Given the description of an element on the screen output the (x, y) to click on. 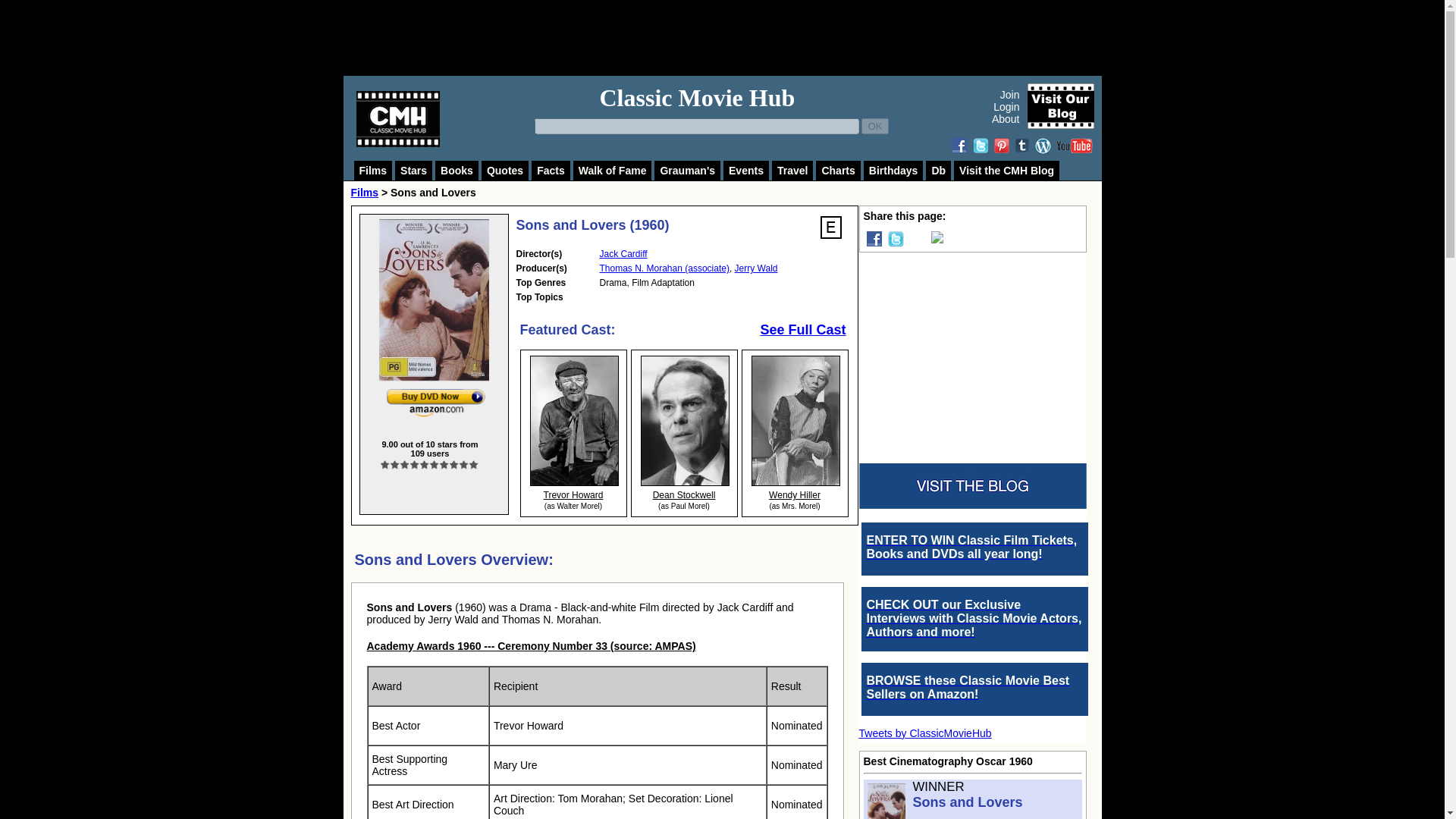
About (1005, 119)
OK (874, 125)
Facts (550, 170)
Login (1005, 106)
Like it, never disappoints (444, 465)
Classic Movie Hub (696, 97)
Visit Classic Movie Hub Blog (1059, 105)
Buy Sons and Lovers Now at Amazon (435, 403)
Enjoyed it, might watch again (424, 465)
LOVE it, one of my all-time favorites (464, 465)
Stars (413, 170)
Enjoyed it, would watch again (434, 465)
Advertisement (738, 38)
Quotes (504, 170)
Not bad but wouldn't recommend it (395, 465)
